Given the description of an element on the screen output the (x, y) to click on. 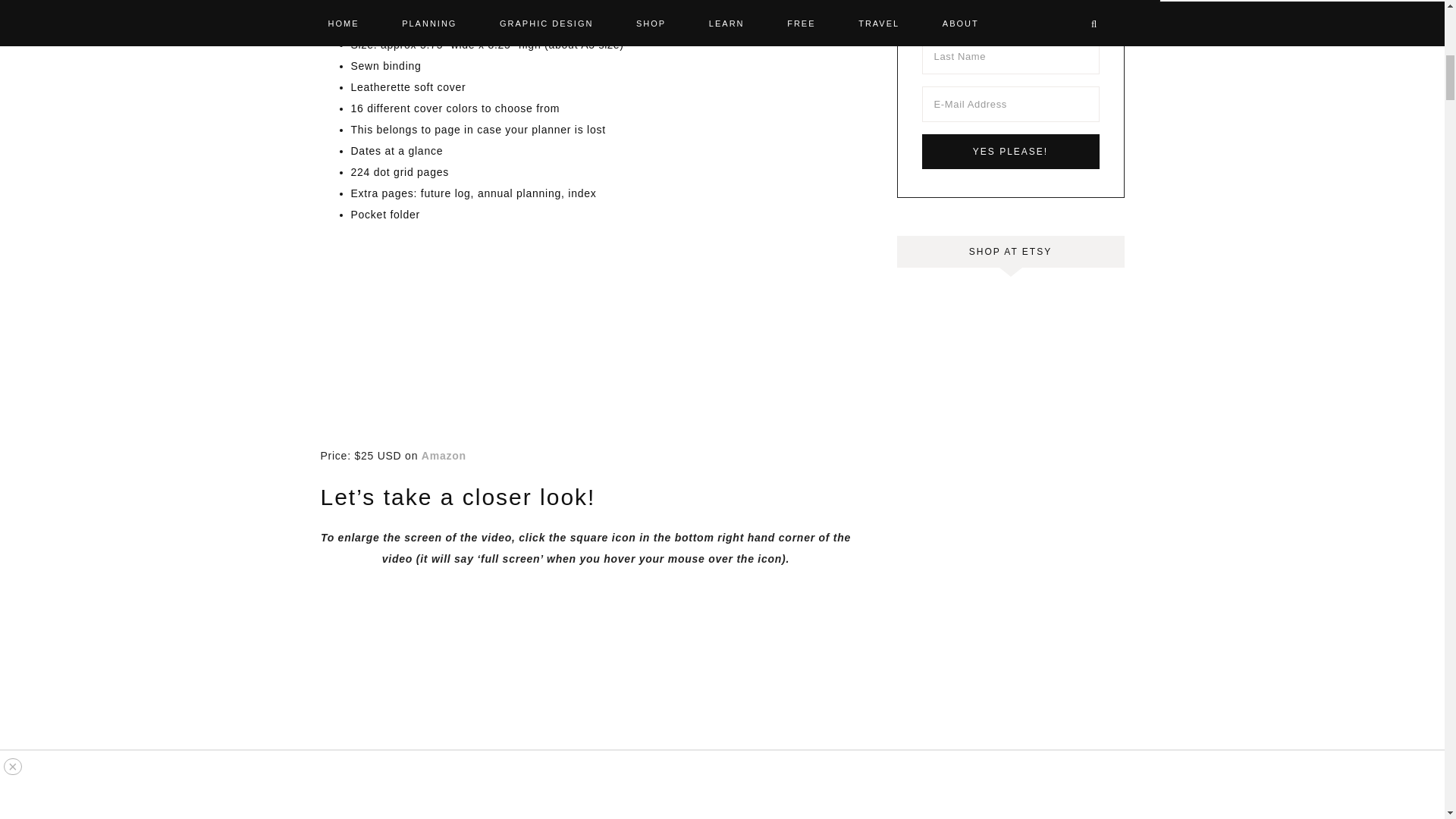
Yes please! (1010, 151)
